Given the description of an element on the screen output the (x, y) to click on. 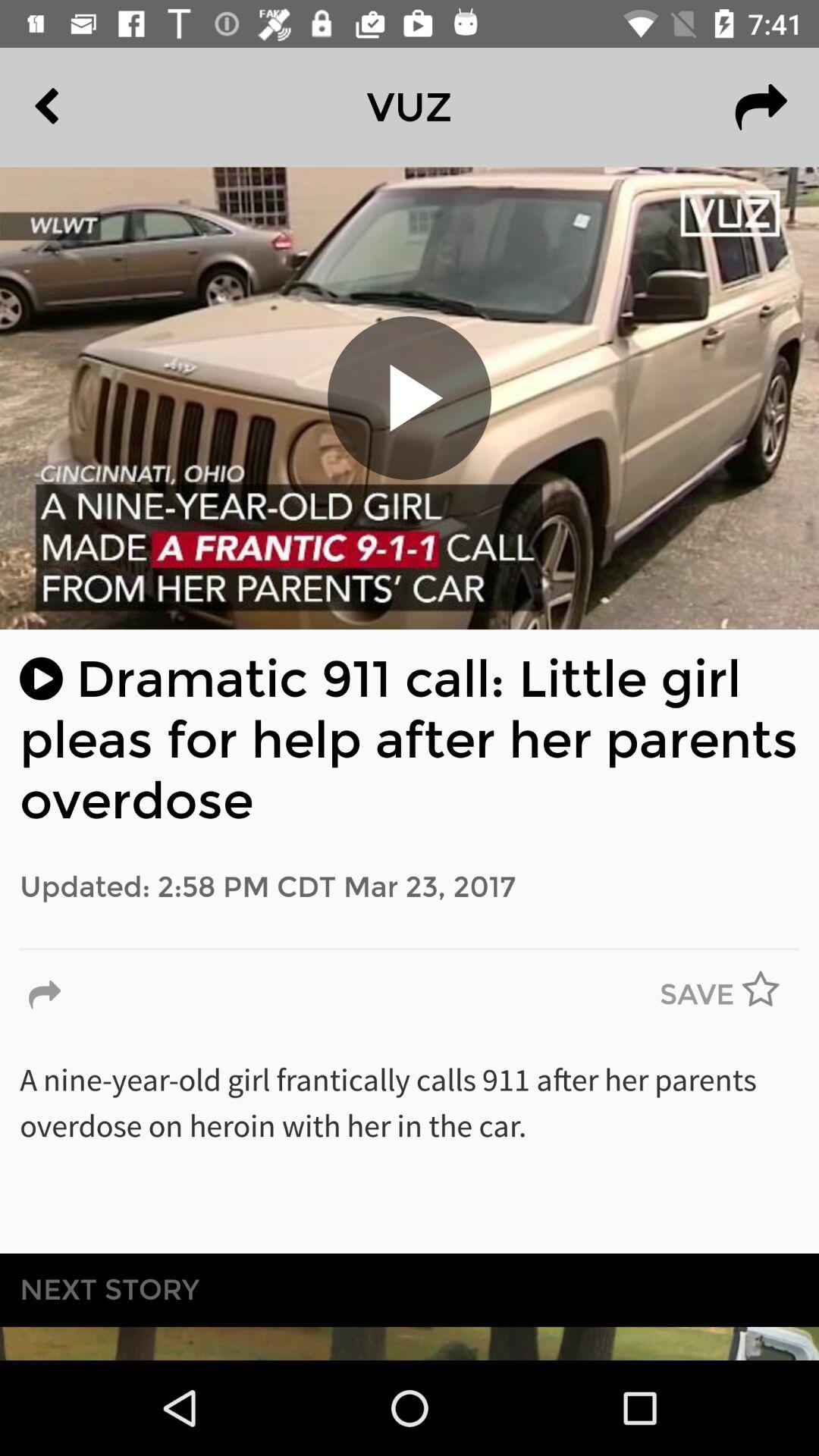
turn off item next to save (44, 995)
